Given the description of an element on the screen output the (x, y) to click on. 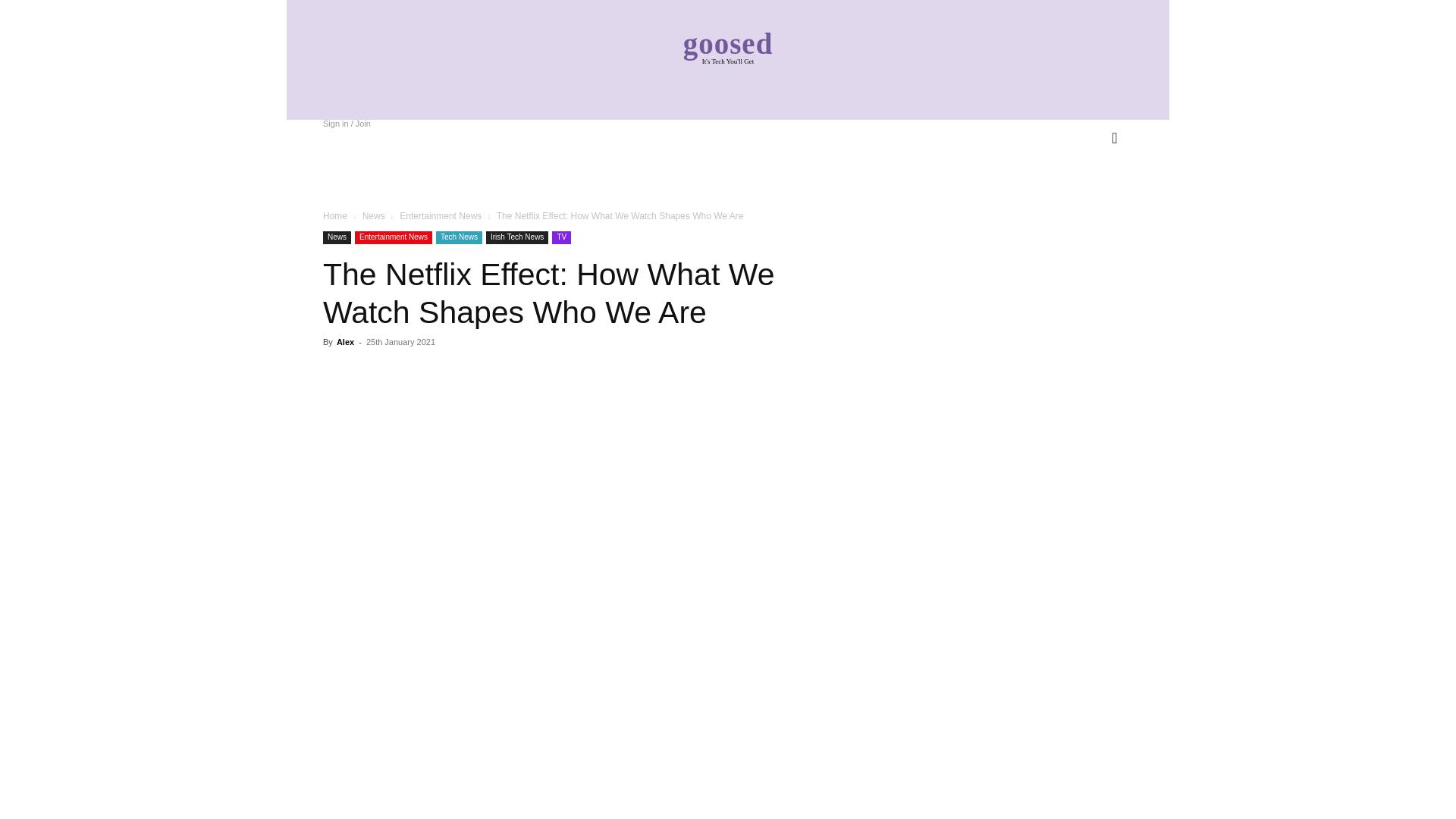
Goosed.ie (727, 46)
